Given the description of an element on the screen output the (x, y) to click on. 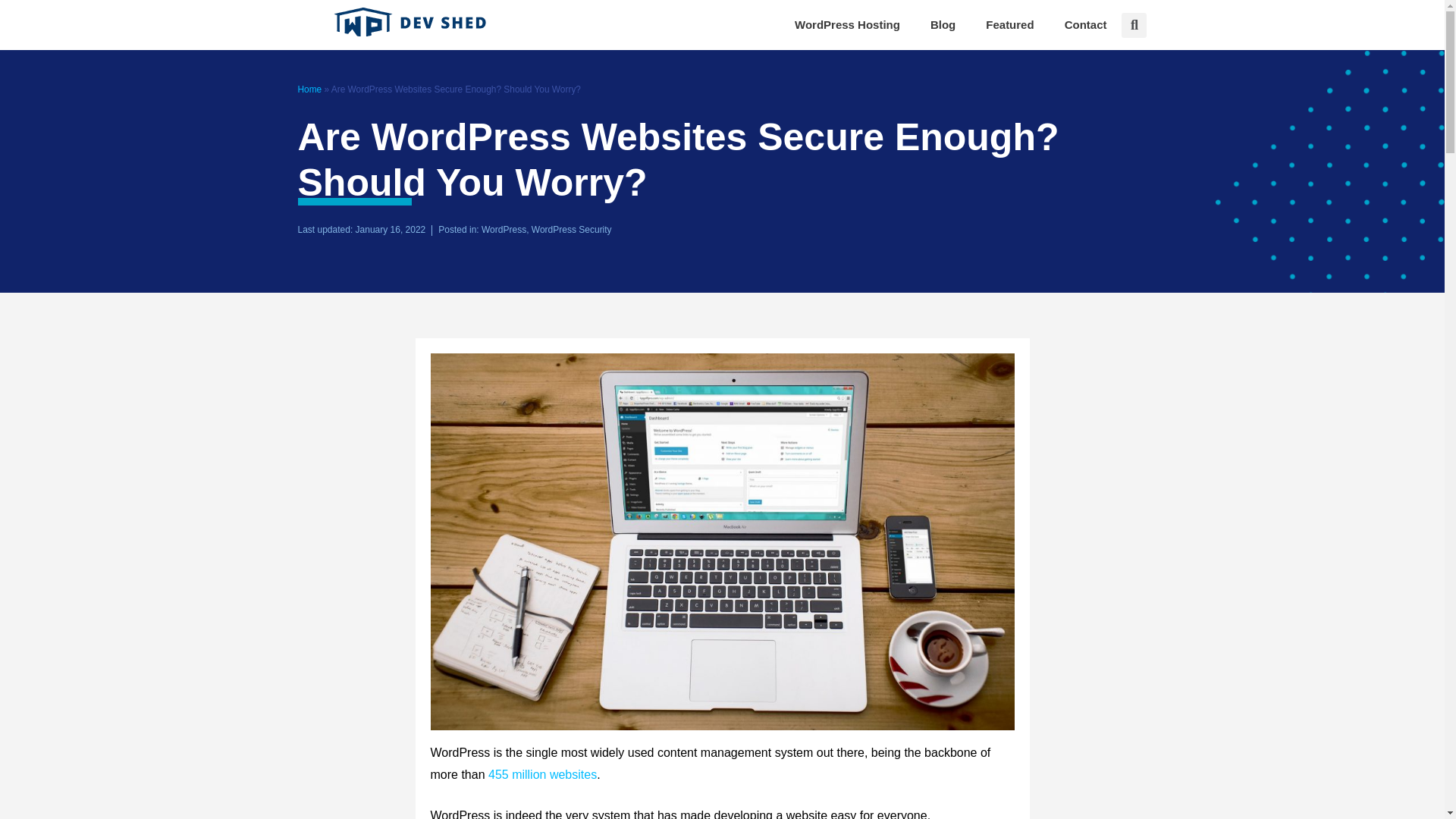
Blog (943, 24)
Home (309, 89)
Featured (1009, 24)
WordPress Security (571, 229)
455 million websites (541, 774)
WordPress Hosting (846, 24)
Contact (1085, 24)
best WordPress hosting (846, 24)
WordPress (503, 229)
